Given the description of an element on the screen output the (x, y) to click on. 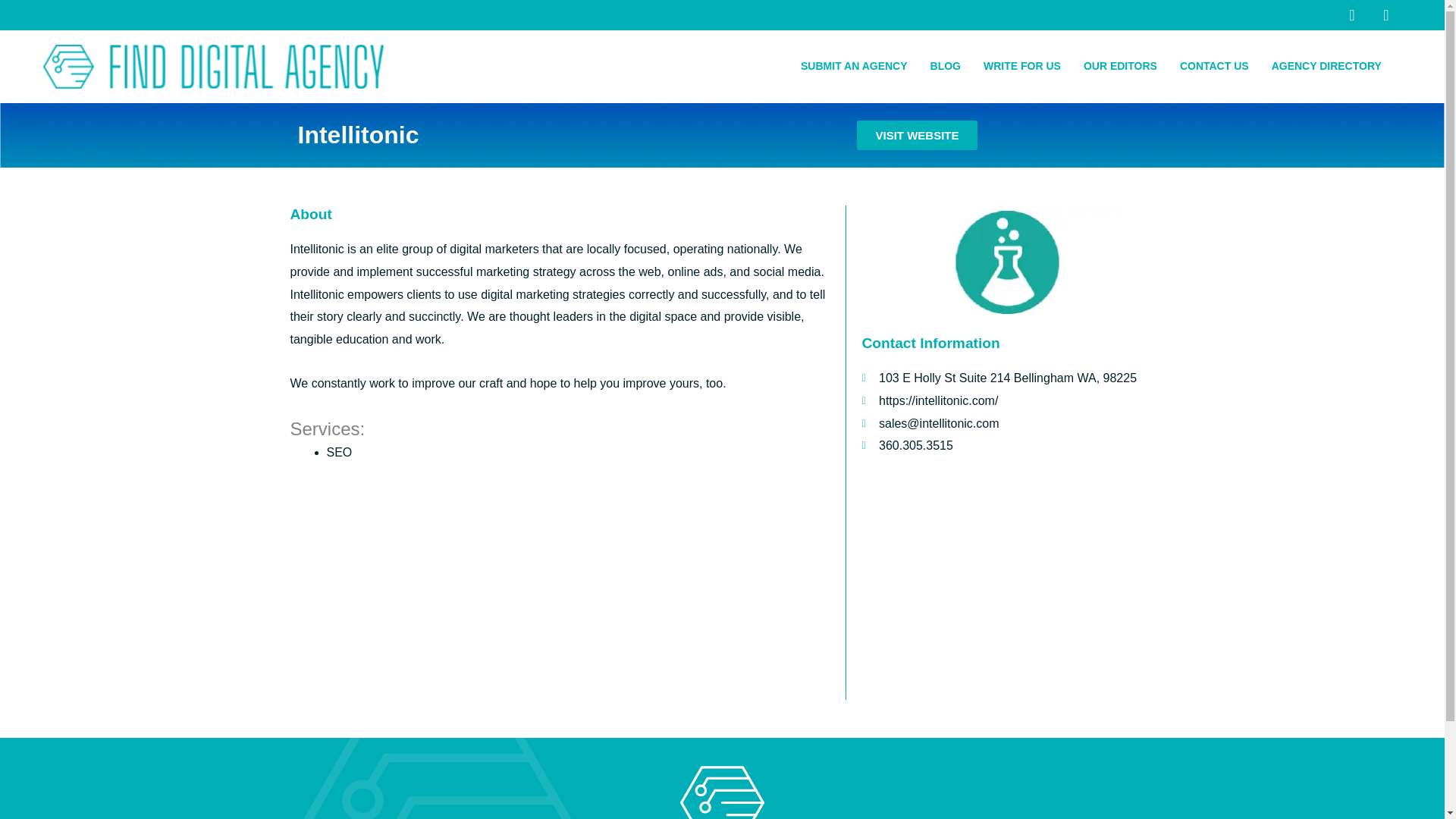
SUBMIT AN AGENCY (853, 66)
103 E Holly St Suite 214 Bellingham WA, 98225 (1007, 586)
Asset 660 (213, 66)
BLOG (945, 66)
CONTACT US (1214, 66)
AGENCY DIRECTORY (1330, 66)
Twitter (1385, 15)
OUR EDITORS (1120, 66)
WRITE FOR US (1021, 66)
Facebook (1351, 15)
